Given the description of an element on the screen output the (x, y) to click on. 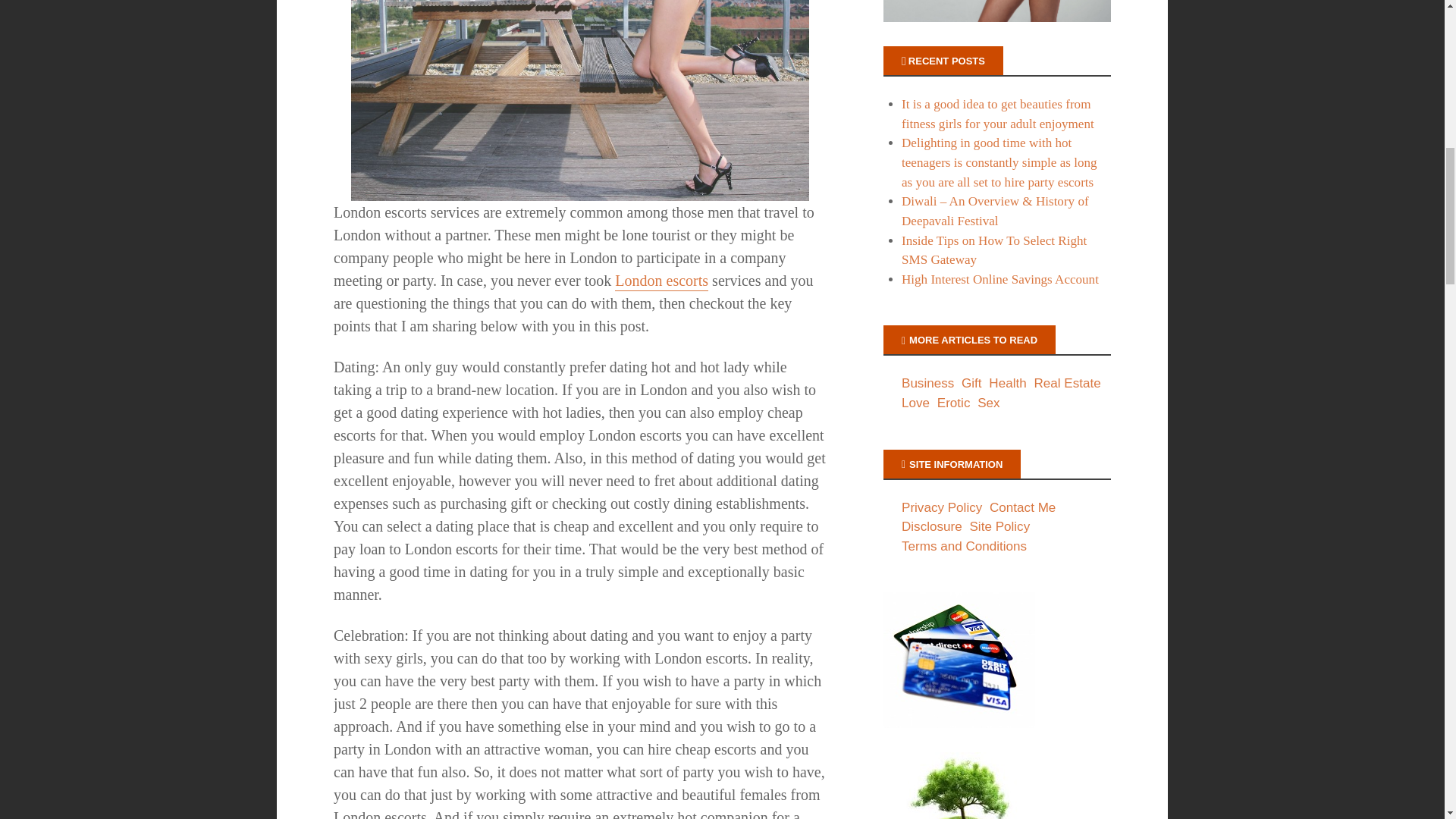
Erotic (955, 402)
Health (1008, 382)
Real Estate (1068, 382)
Business (929, 382)
Sex (989, 402)
Contact Me (1024, 507)
Privacy Policy (943, 507)
High Interest Online Savings Account (1000, 278)
London escorts (660, 281)
Inside Tips on How To Select Right SMS Gateway (993, 250)
Love (917, 402)
Terms and Conditions (965, 545)
Gift (972, 382)
